Given the description of an element on the screen output the (x, y) to click on. 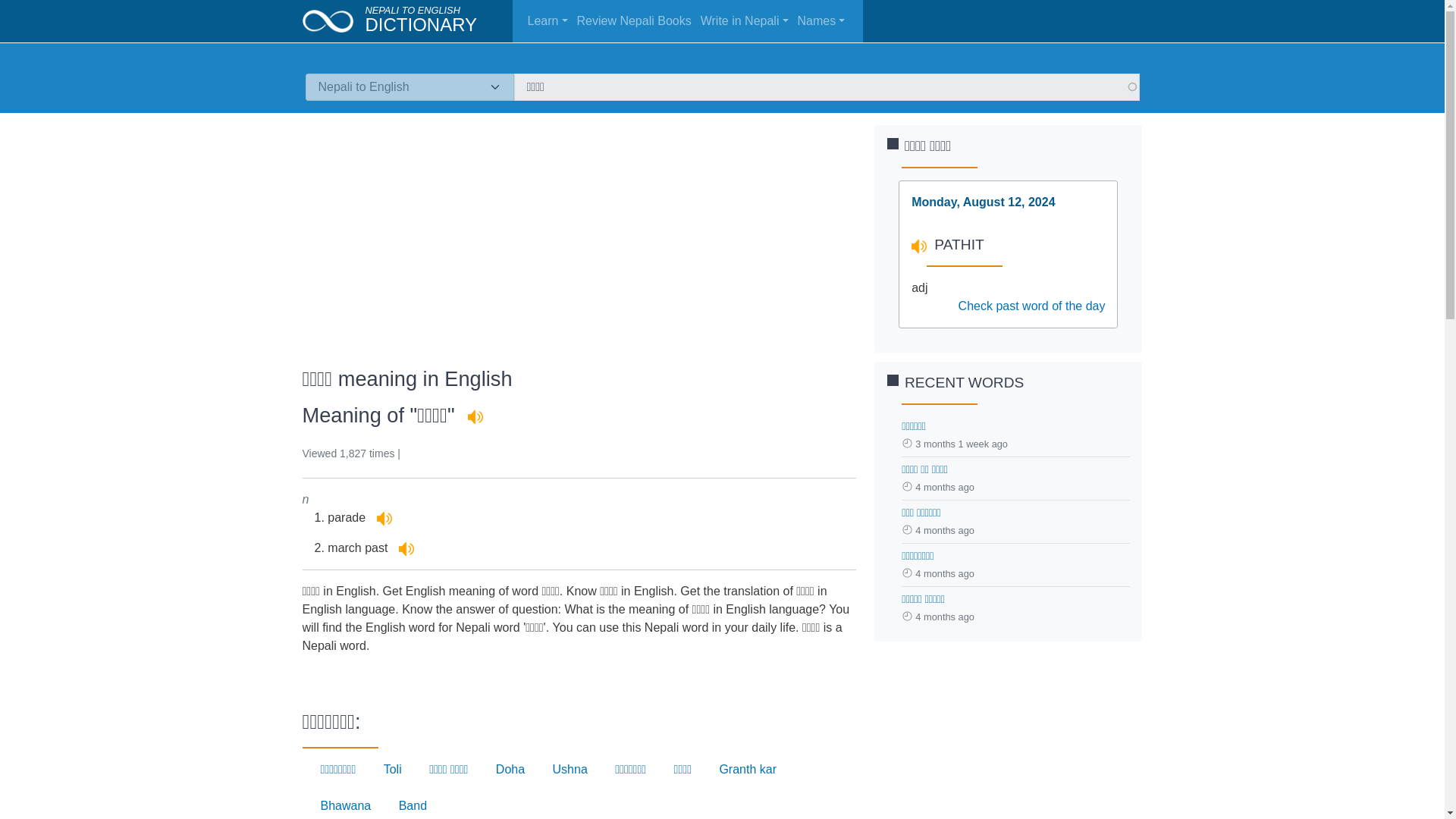
Bhawana (345, 805)
Dictionary (333, 19)
Dictionary (412, 9)
Advertisement (578, 231)
DICTIONARY (421, 24)
Enter the terms you wish to search for. (826, 86)
Toli (392, 768)
Granth kar (747, 768)
Dictionary (421, 24)
Doha (510, 768)
